Given the description of an element on the screen output the (x, y) to click on. 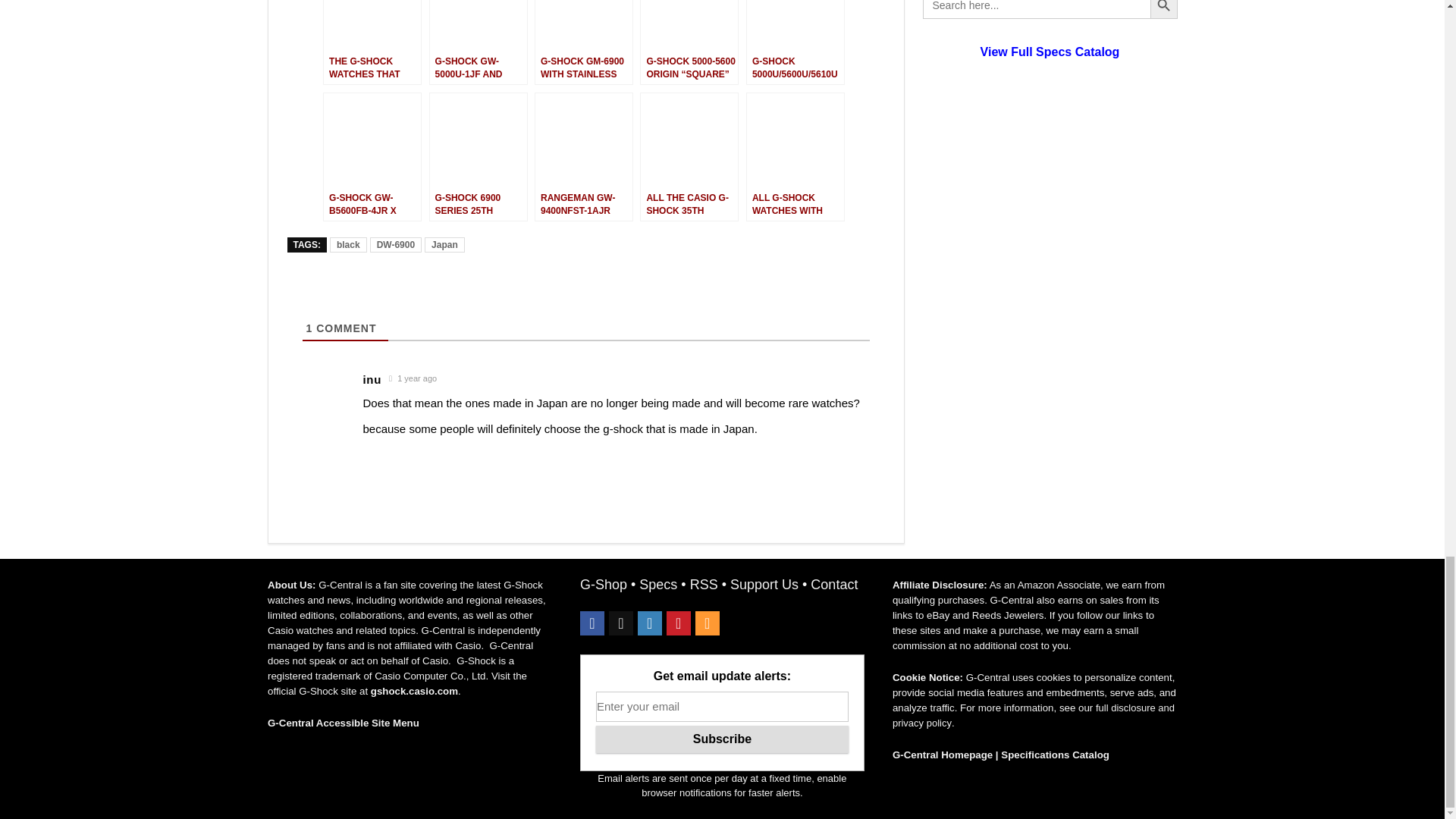
The G-Shock Watches That Are Made In Japan (372, 42)
Subscribe (721, 738)
